Given the description of an element on the screen output the (x, y) to click on. 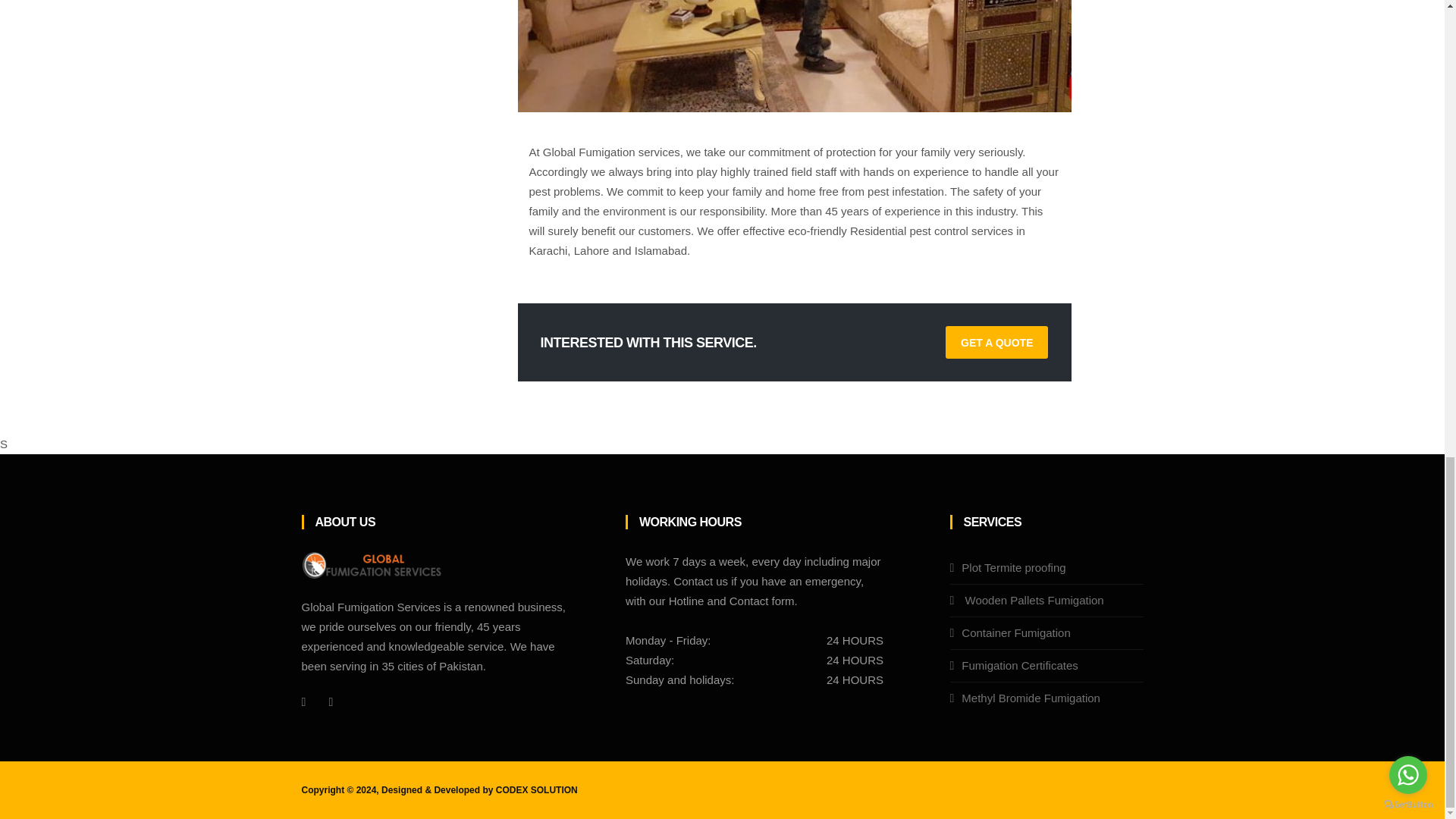
Fumigation Certificates (1018, 665)
CODEX SOLUTION (537, 789)
GET A QUOTE (996, 341)
Methyl Bromide Fumigation (1030, 697)
Plot Termite proofing (1012, 567)
Wooden Pallets Fumigation (1031, 599)
Container Fumigation (1015, 632)
